Given the description of an element on the screen output the (x, y) to click on. 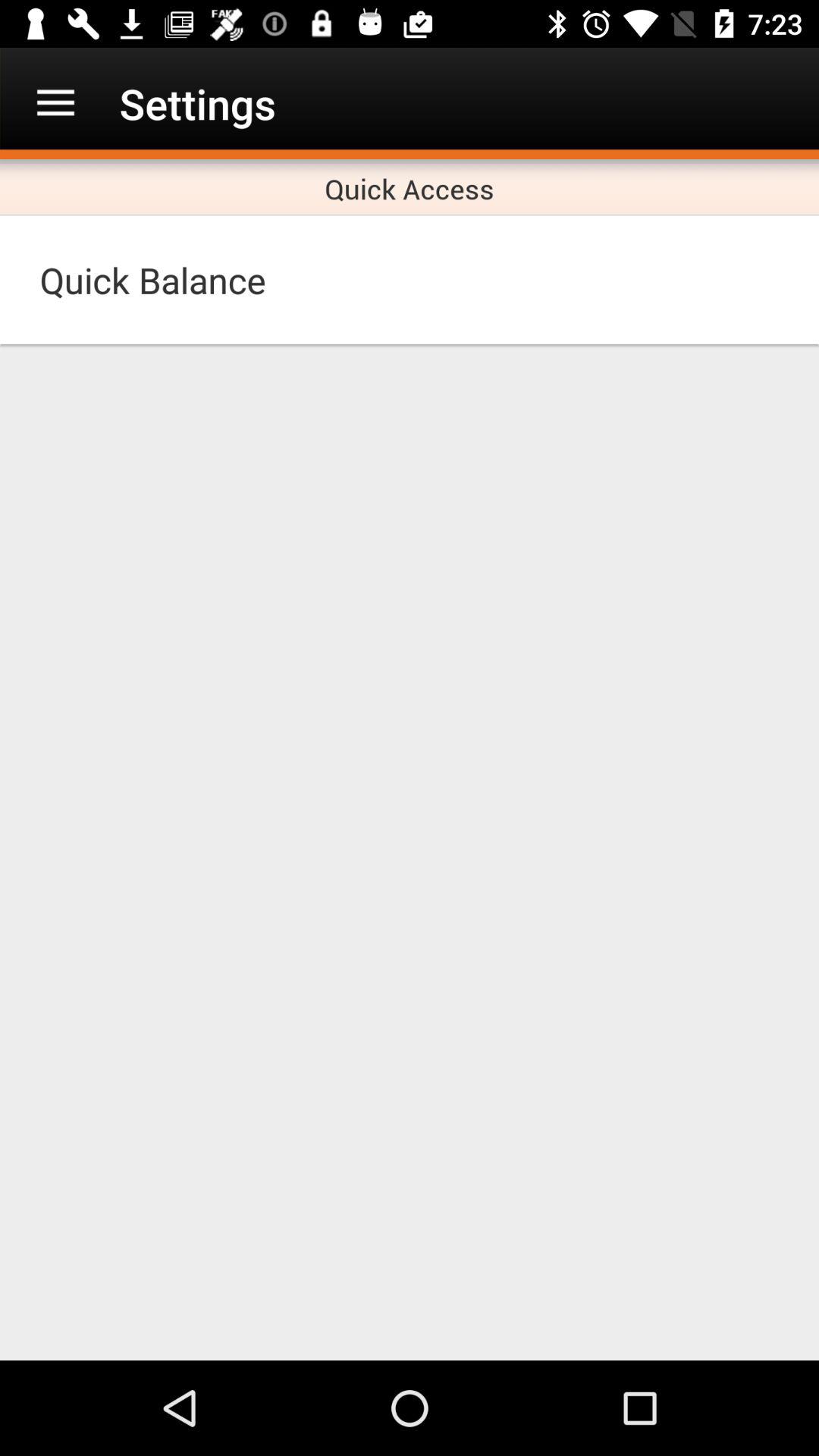
click the icon to the left of settings icon (55, 103)
